Given the description of an element on the screen output the (x, y) to click on. 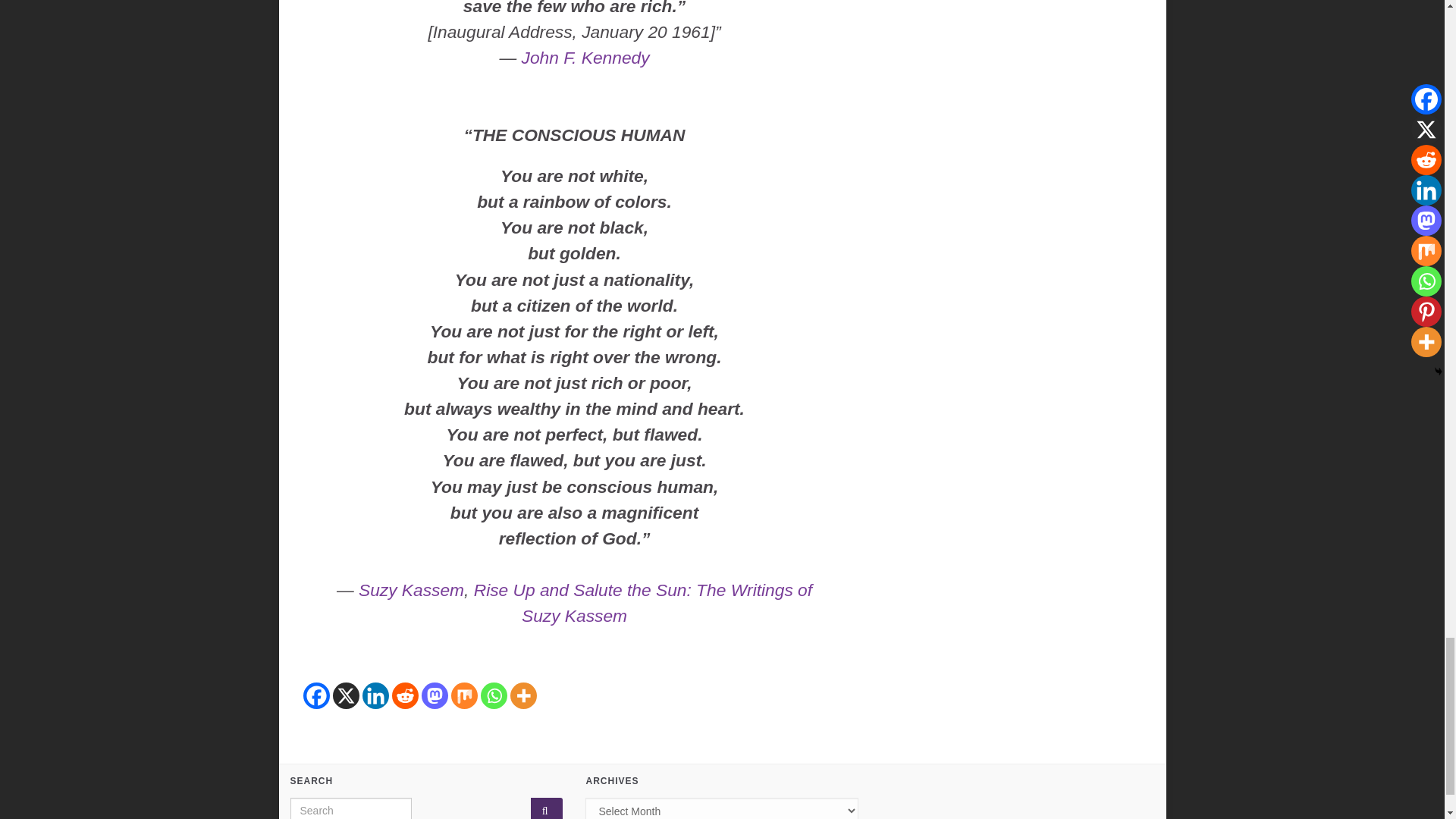
Reddit (404, 695)
Facebook (316, 695)
Whatsapp (493, 695)
Mastodon (435, 695)
Linkedin (375, 695)
More (522, 695)
Mix (463, 695)
X (344, 695)
